Given the description of an element on the screen output the (x, y) to click on. 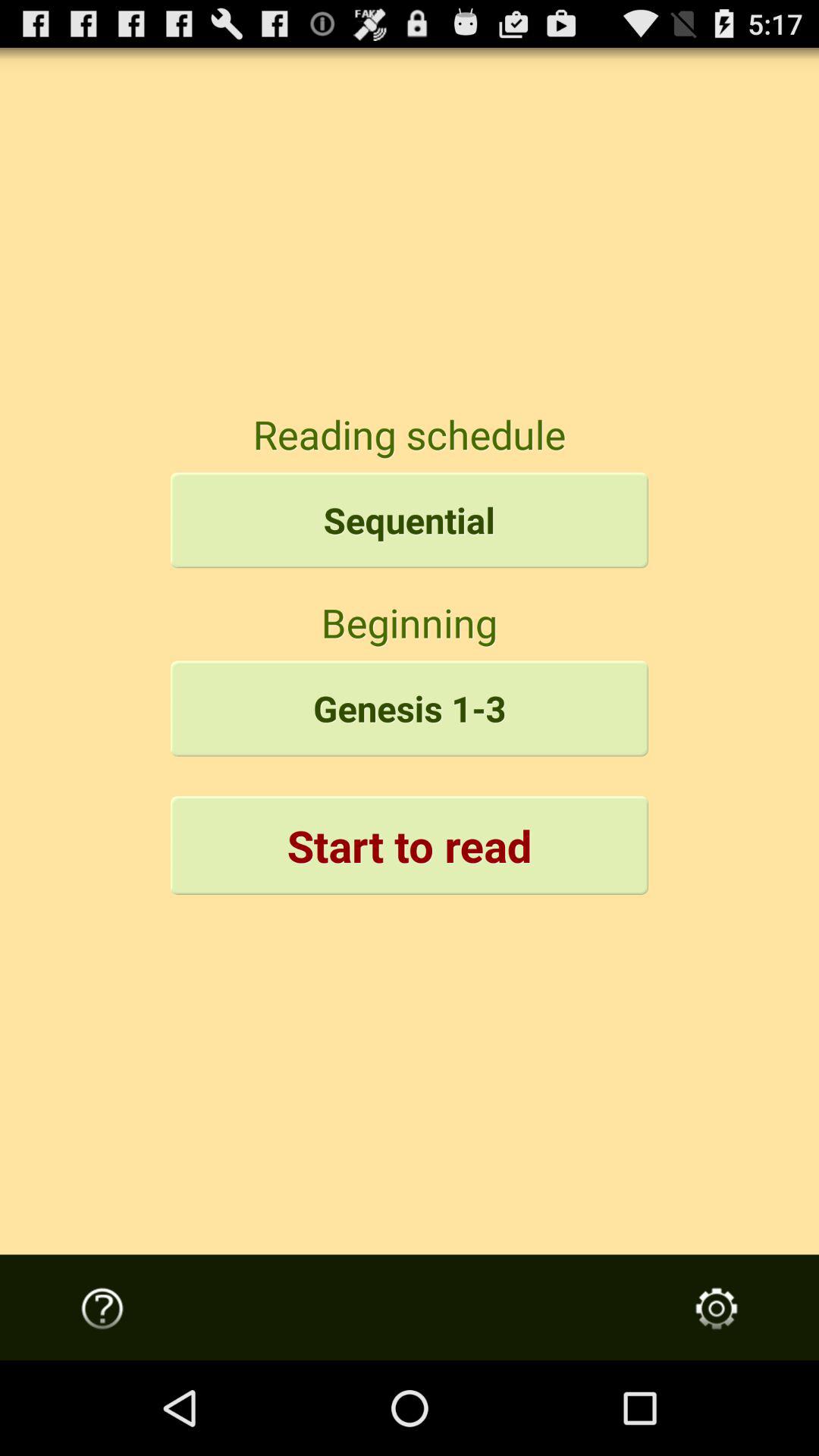
select item above the beginning (409, 520)
